Given the description of an element on the screen output the (x, y) to click on. 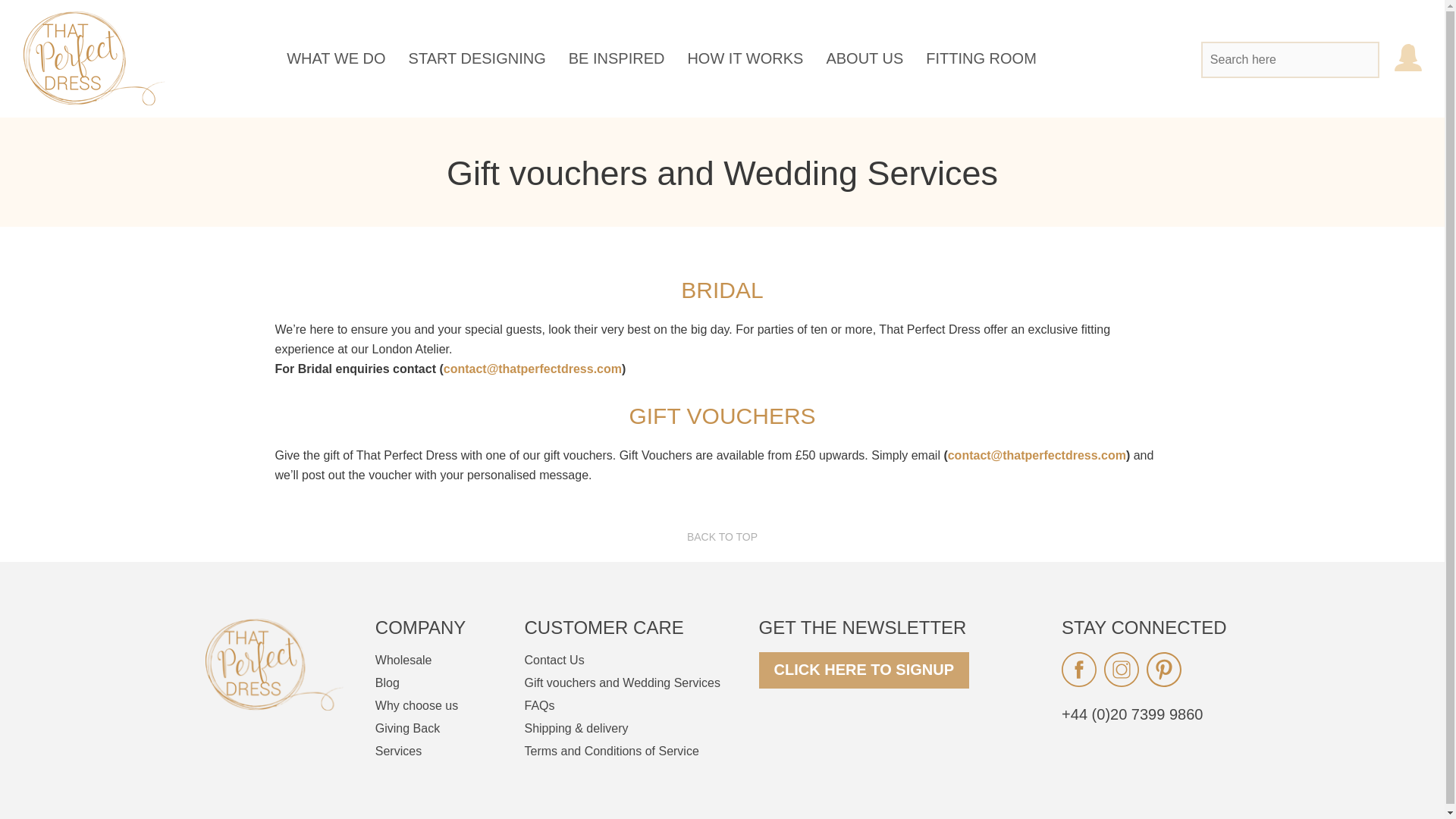
Wholesale (403, 659)
Search (1357, 60)
Blog (386, 682)
Gift vouchers and Wedding Services (622, 682)
START DESIGNING (477, 57)
Search (1357, 60)
Contact Us (553, 659)
ABOUT US (863, 57)
FITTING ROOM (981, 57)
Search (1357, 60)
